Given the description of an element on the screen output the (x, y) to click on. 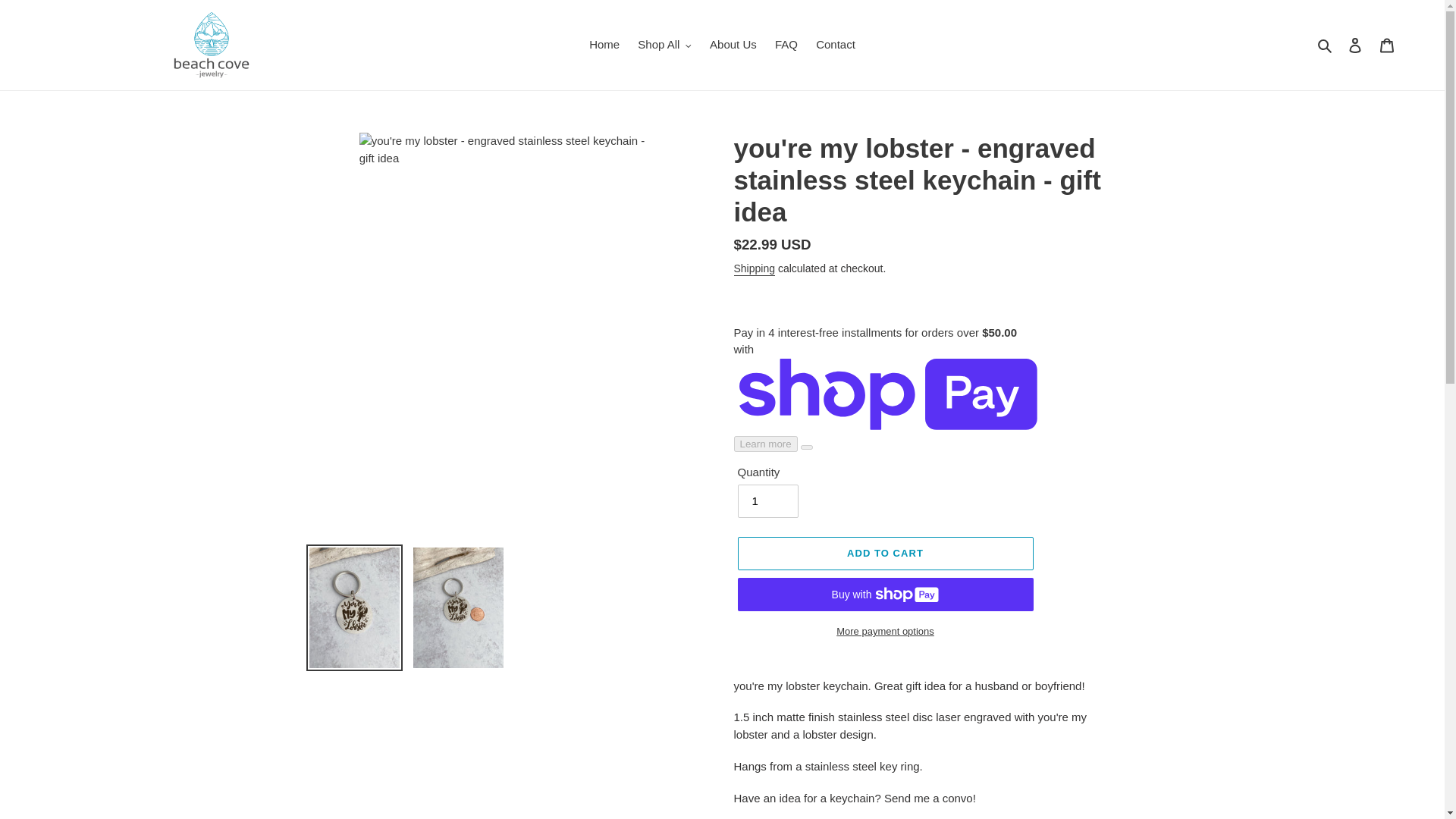
About Us (732, 45)
Cart (1387, 44)
1 (766, 500)
Search (1326, 45)
FAQ (786, 45)
Contact (835, 45)
Home (603, 45)
Log in (1355, 44)
Shop All (664, 45)
